Given the description of an element on the screen output the (x, y) to click on. 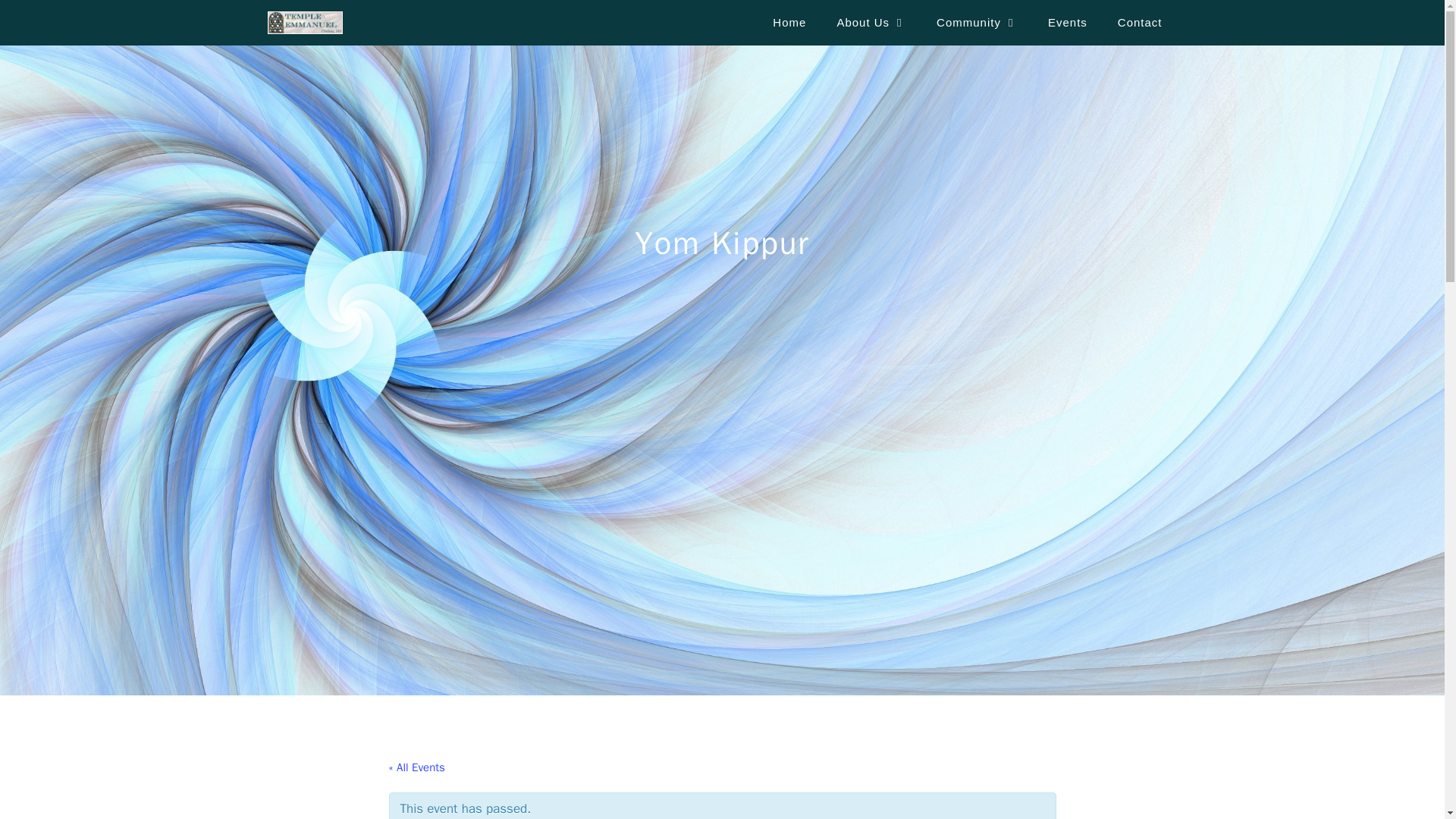
Contact (1139, 22)
Events (1067, 22)
Community (976, 22)
Temple Emmanuel of Chelsea (304, 22)
Temple Emmanuel of Chelsea (307, 22)
Home (789, 22)
About Us (871, 22)
